Given the description of an element on the screen output the (x, y) to click on. 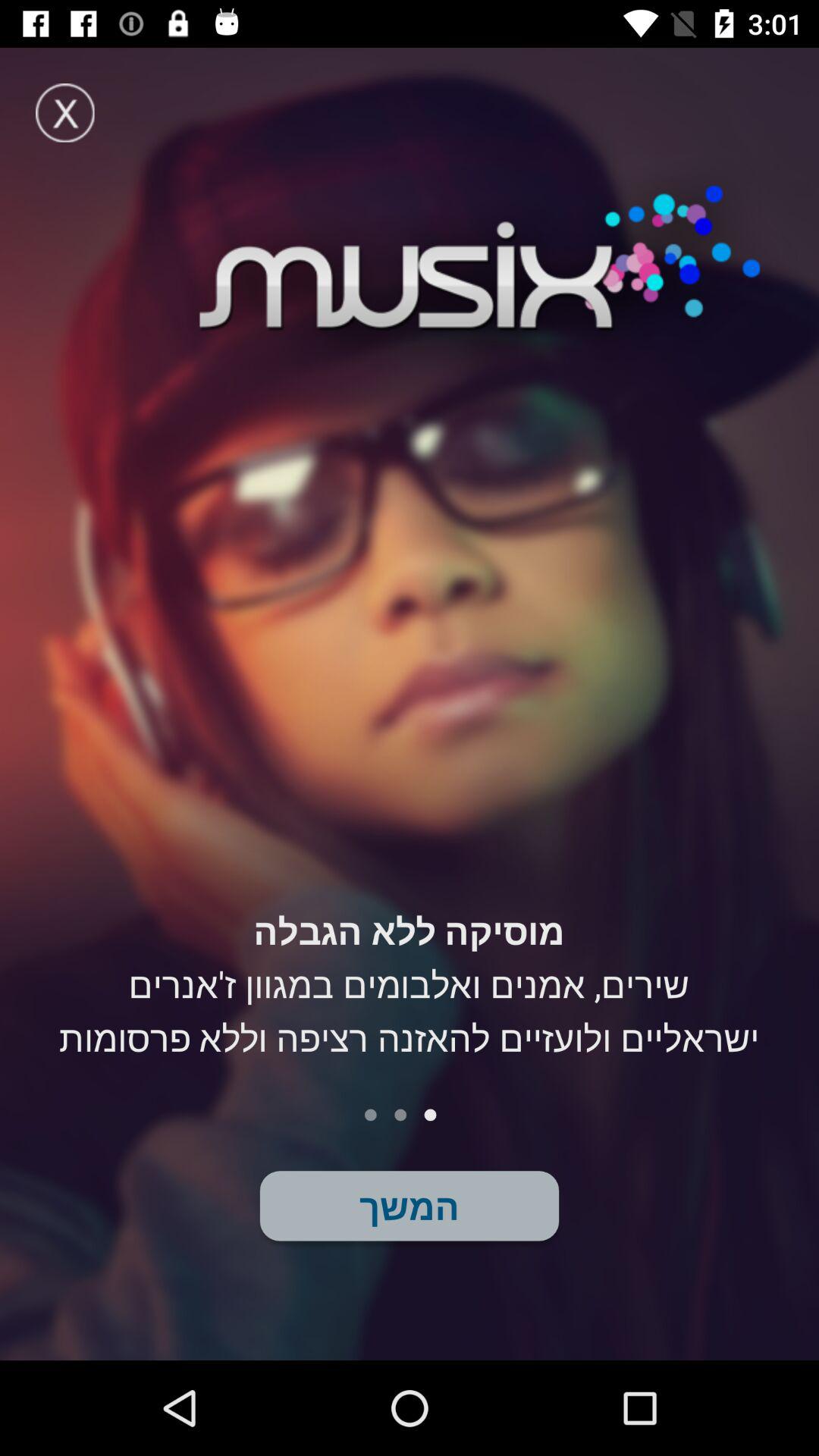
click the icon at the top left corner (64, 112)
